Given the description of an element on the screen output the (x, y) to click on. 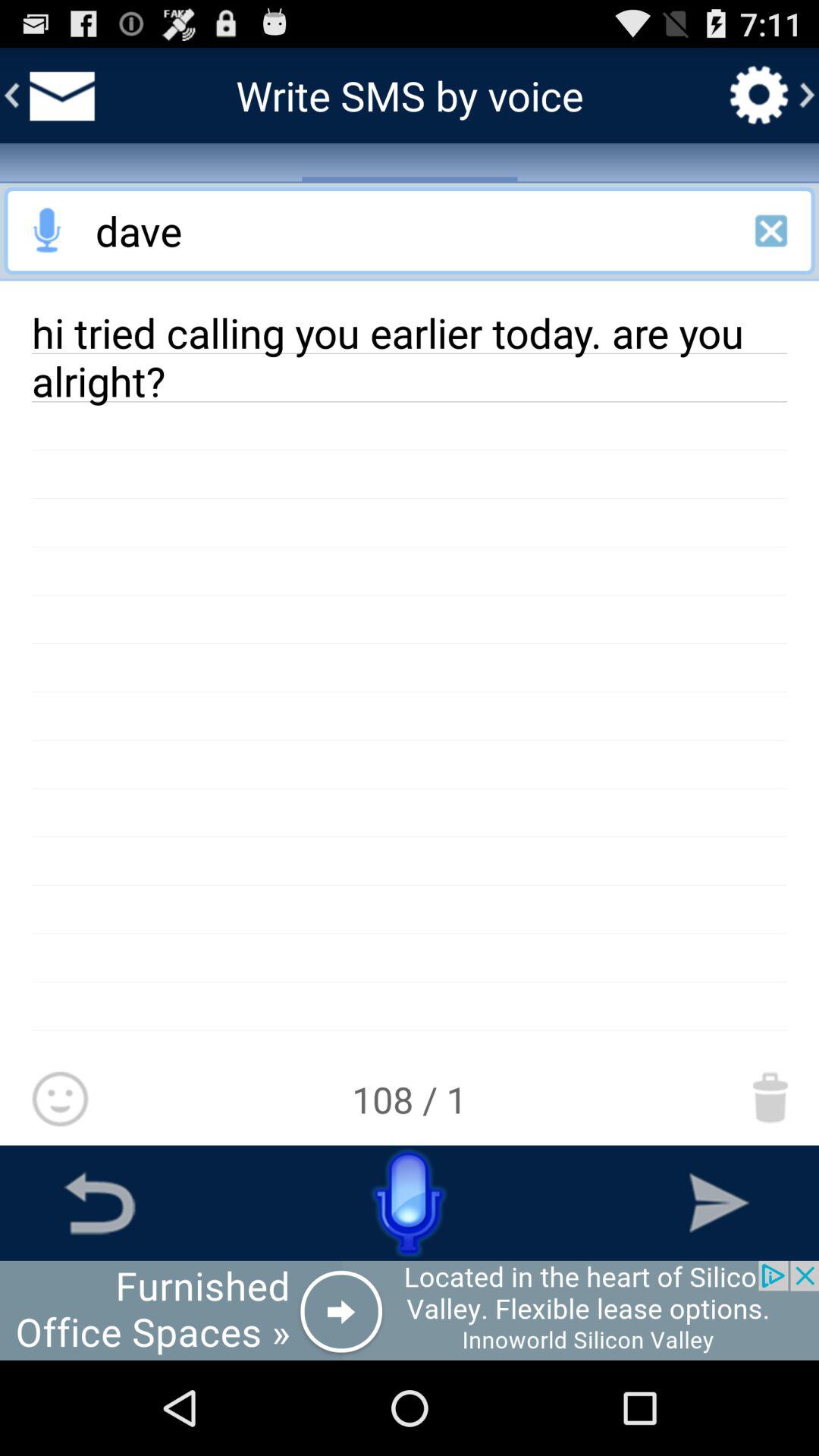
go to previous (99, 1202)
